Given the description of an element on the screen output the (x, y) to click on. 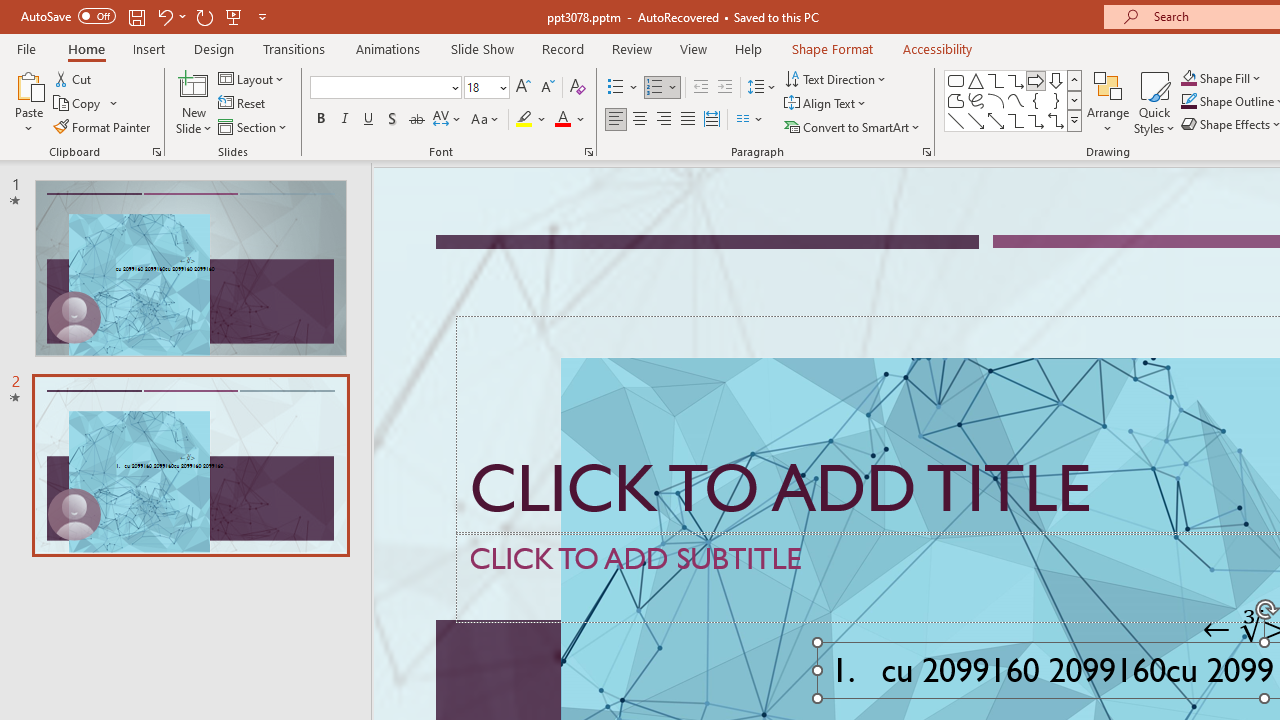
Connector: Elbow Double-Arrow (1055, 120)
